Given the description of an element on the screen output the (x, y) to click on. 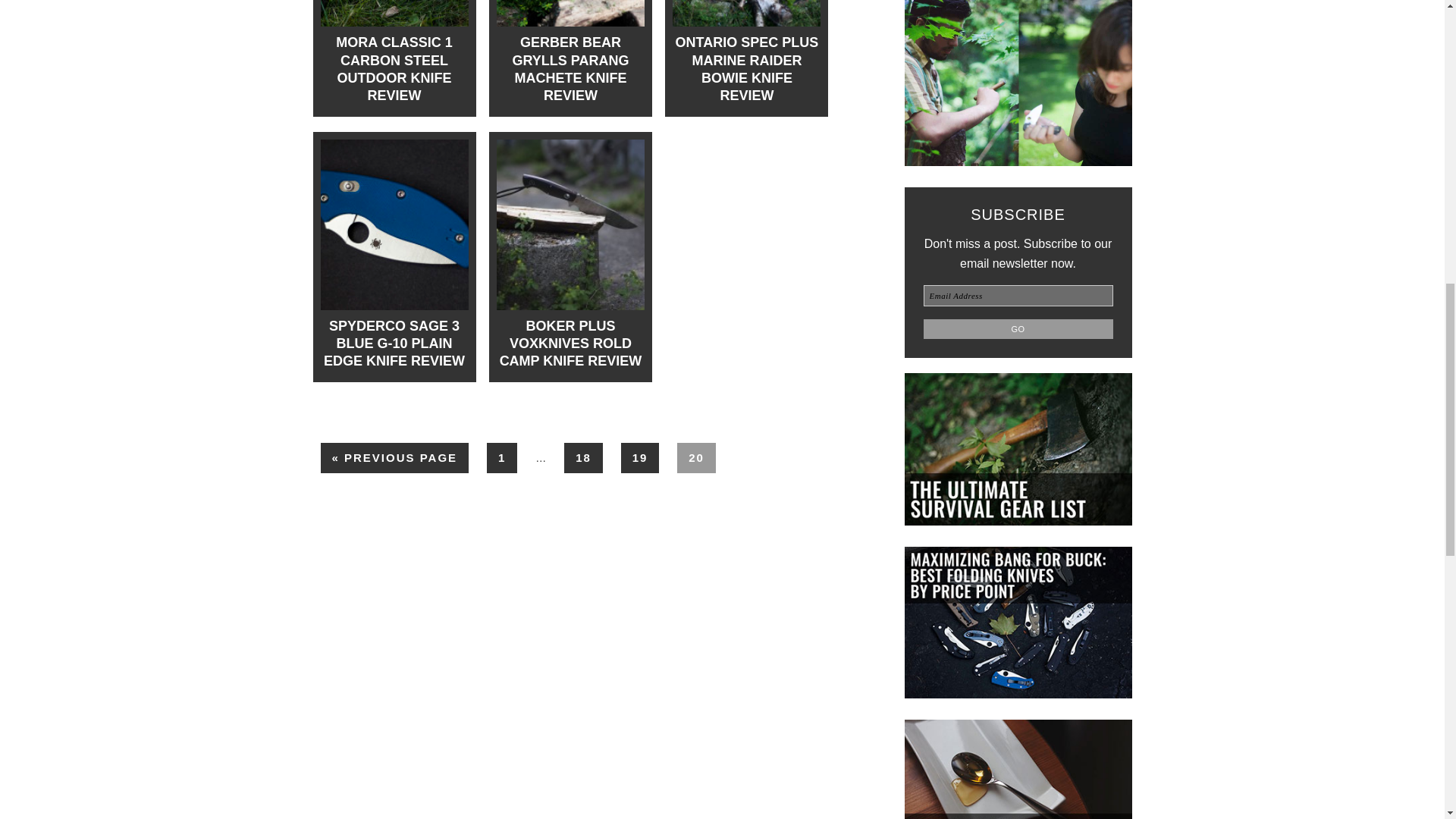
MORA CLASSIC 1 CARBON STEEL OUTDOOR KNIFE REVIEW (393, 69)
ONTARIO SPEC PLUS MARINE RAIDER BOWIE KNIFE REVIEW (746, 69)
19 (640, 458)
SPYDERCO SAGE 3 BLUE G-10 PLAIN EDGE KNIFE REVIEW (393, 343)
BOKER PLUS VOXKNIVES ROLD CAMP KNIFE REVIEW (570, 343)
20 (696, 458)
Go (1018, 329)
GERBER BEAR GRYLLS PARANG MACHETE KNIFE REVIEW (570, 69)
1 (501, 458)
18 (583, 458)
